Given the description of an element on the screen output the (x, y) to click on. 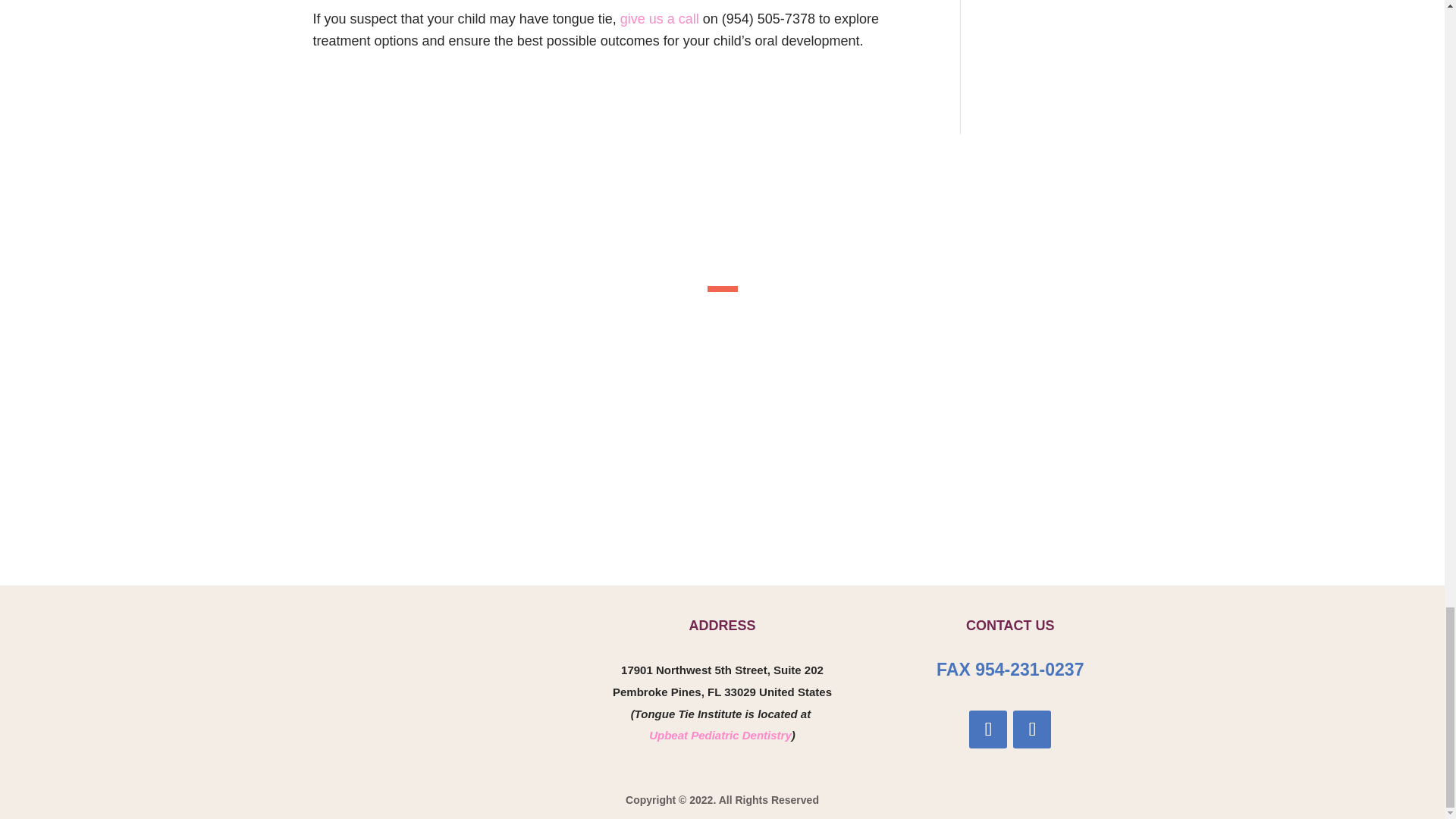
Upbeat Pediatric Dentistry (720, 735)
Follow on Facebook (1032, 729)
give us a call (659, 18)
Follow on Instagram (988, 729)
